Given the description of an element on the screen output the (x, y) to click on. 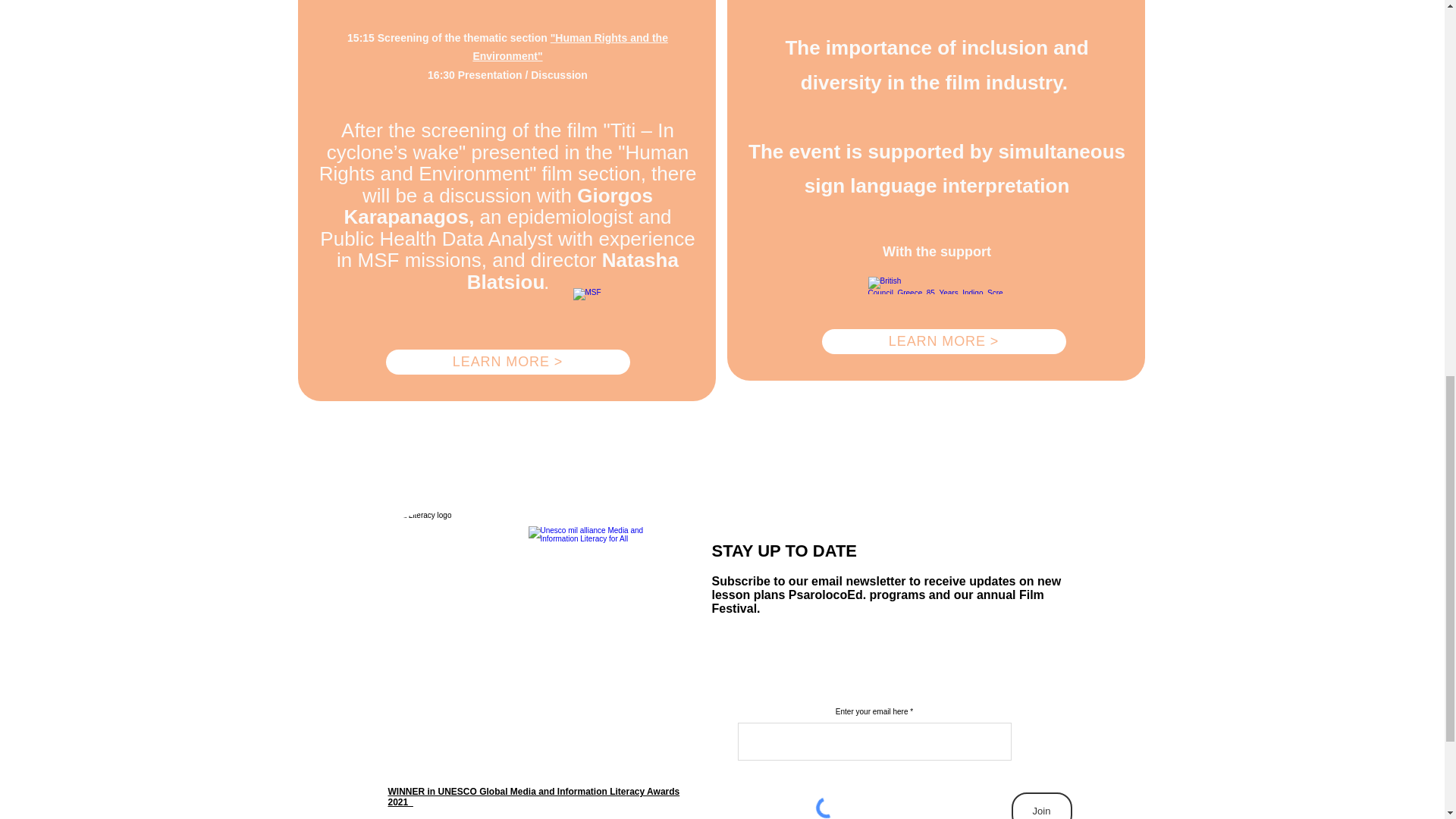
Join (1041, 805)
"Human Rights and the Environment" (569, 47)
